Given the description of an element on the screen output the (x, y) to click on. 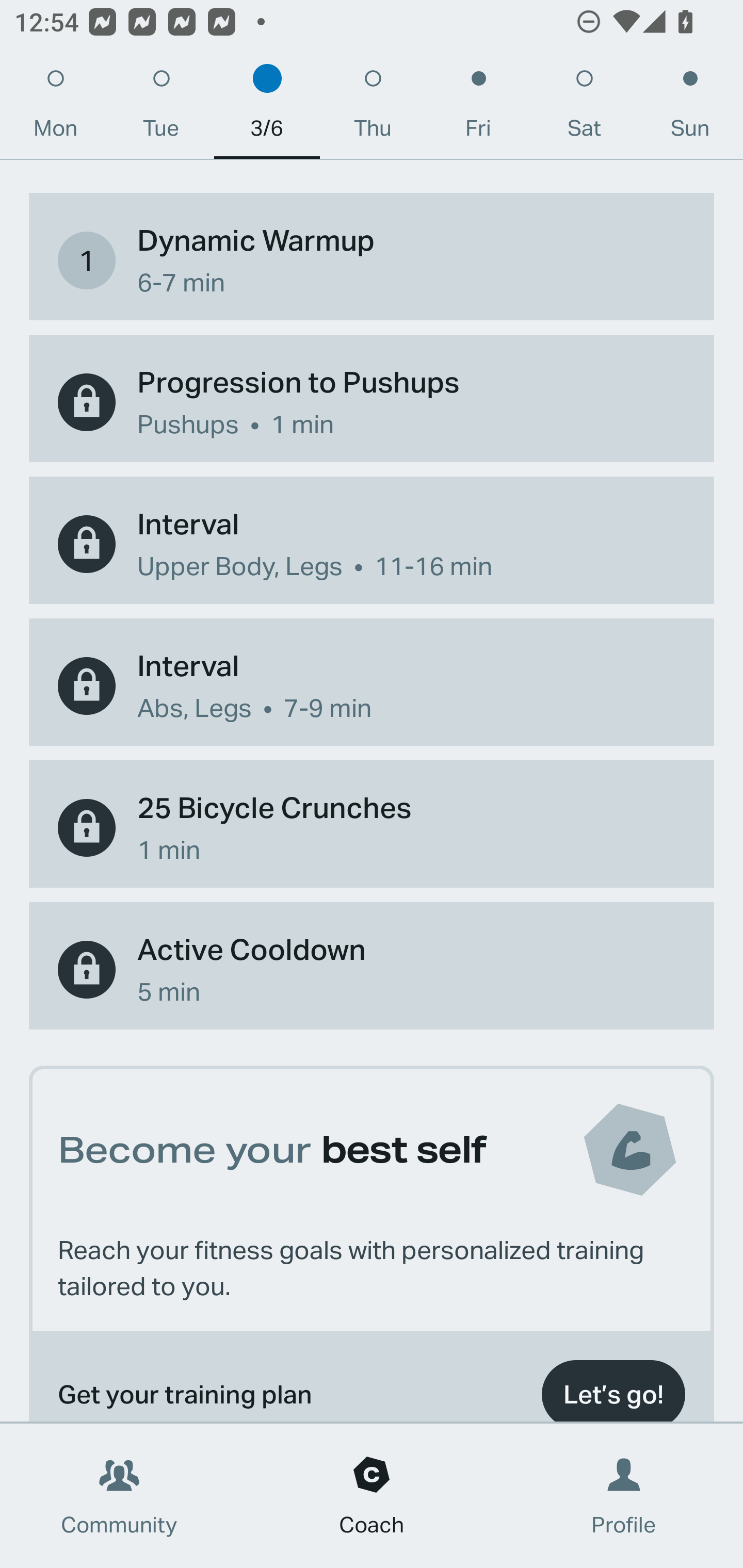
Mon (55, 108)
Tue (160, 108)
3/6 (266, 108)
Thu (372, 108)
Fri (478, 108)
Sat (584, 108)
Sun (690, 108)
1 Dynamic Warmup 6-7 min (371, 260)
Progression to Pushups Pushups  •  1 min (371, 402)
Interval Upper Body, Legs  •  11-16 min (371, 544)
Interval Abs, Legs  •  7-9 min (371, 685)
25 Bicycle Crunches 1 min (371, 827)
Active Cooldown 5 min (371, 969)
Let’s go! (613, 1386)
Community (119, 1495)
Profile (624, 1495)
